Given the description of an element on the screen output the (x, y) to click on. 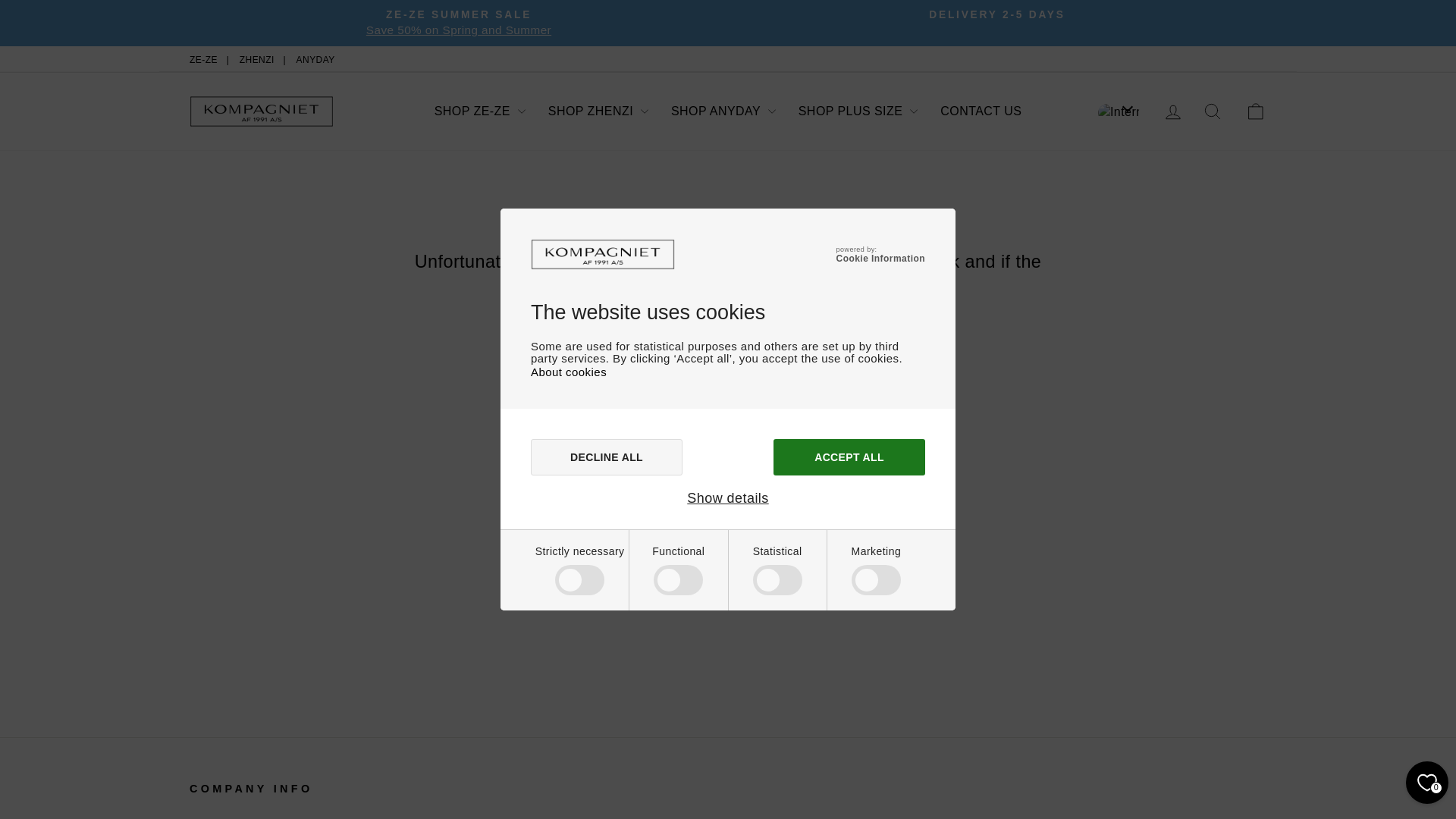
Cookie Information (879, 258)
DECLINE ALL (606, 456)
About cookies (569, 371)
ACCEPT ALL (848, 456)
Show details (727, 498)
